Given the description of an element on the screen output the (x, y) to click on. 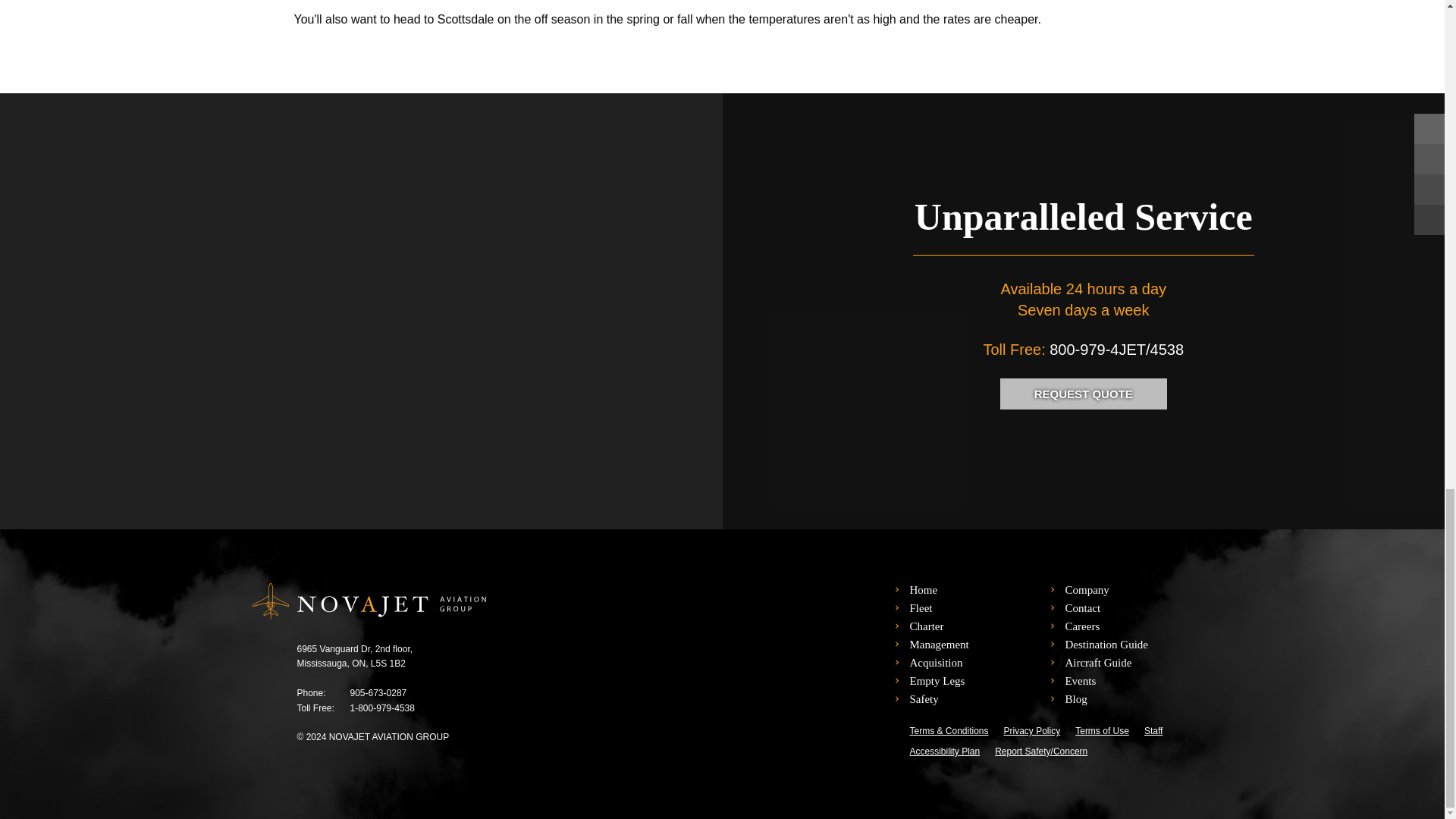
Destination Guide (1106, 644)
Events (1080, 680)
Empty Legs (935, 680)
Home (922, 589)
1-800-979-4538 (382, 707)
905-673-0287 (378, 692)
Aircraft Guide (1097, 662)
Blog (1075, 698)
Contact (1082, 607)
Careers (1081, 625)
